Given the description of an element on the screen output the (x, y) to click on. 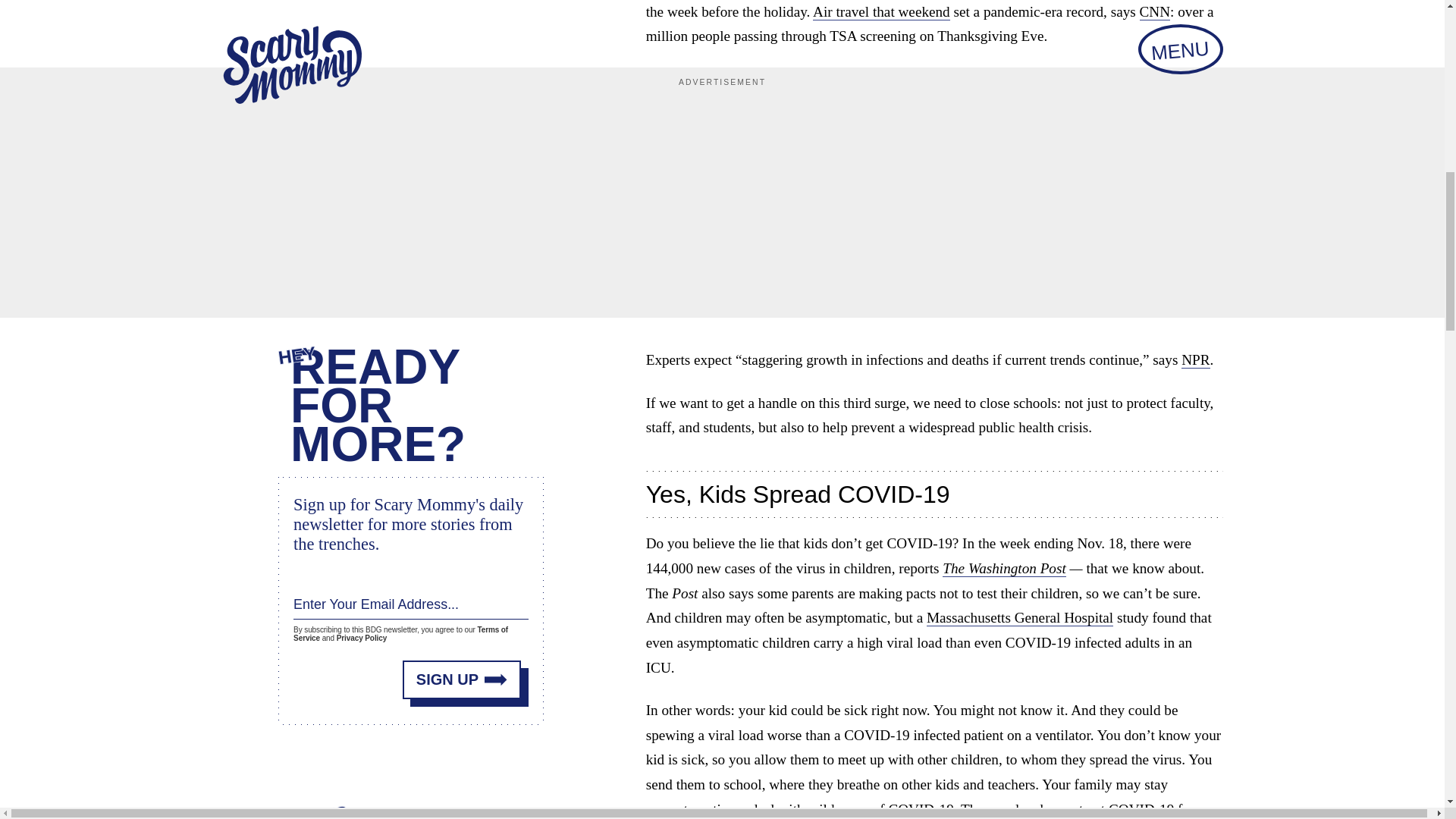
SIGN UP (462, 679)
CNN (1155, 12)
Air travel that weekend (881, 12)
Terms of Service (401, 633)
NPR (1194, 360)
The Washington Post (1003, 568)
Privacy Policy (361, 637)
Massachusetts General Hospital (1019, 617)
